Given the description of an element on the screen output the (x, y) to click on. 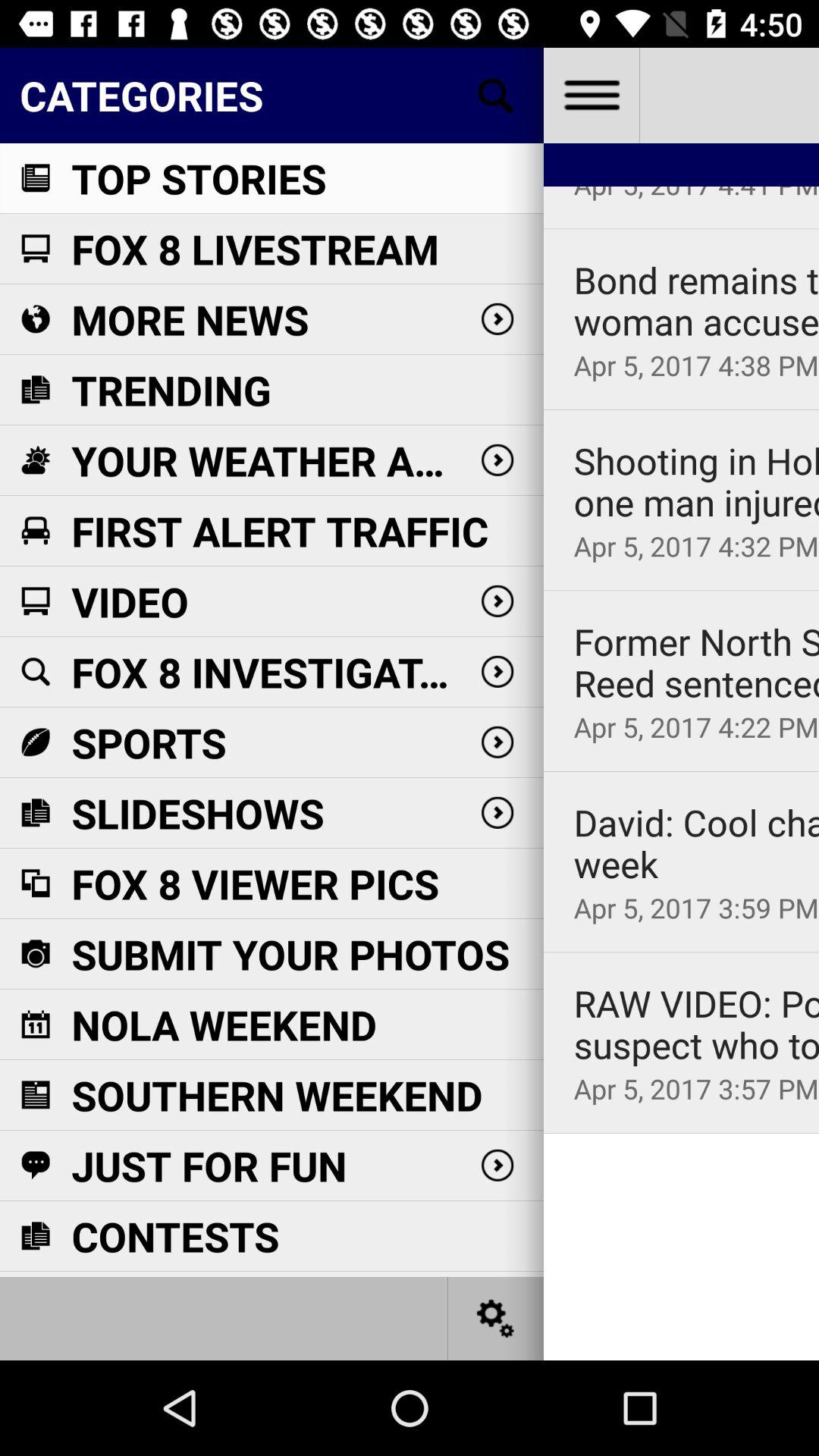
more options (591, 95)
